Given the description of an element on the screen output the (x, y) to click on. 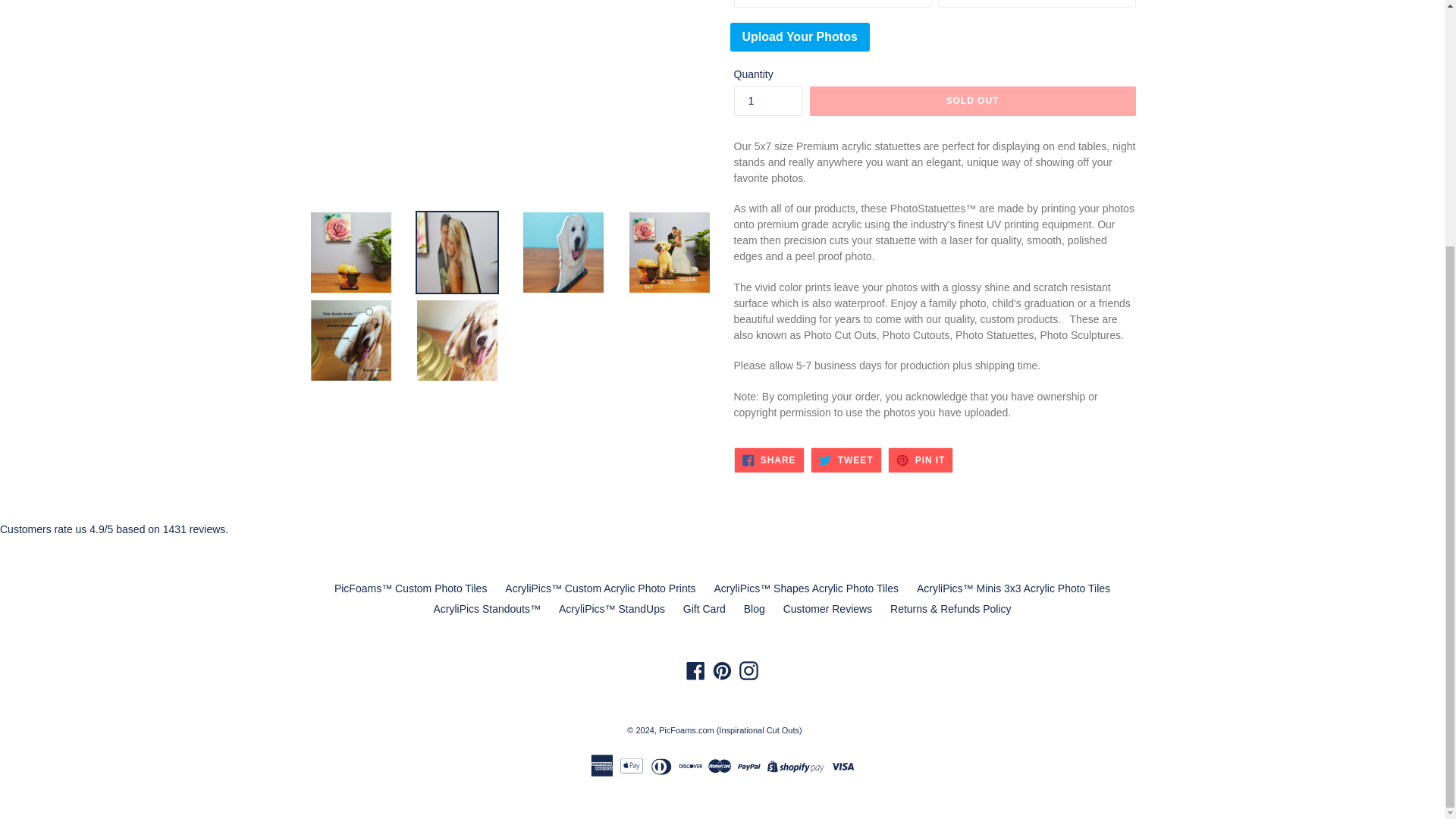
Share on Facebook (769, 460)
1 (767, 101)
Tweet on Twitter (845, 460)
Pin on Pinterest (920, 460)
